Given the description of an element on the screen output the (x, y) to click on. 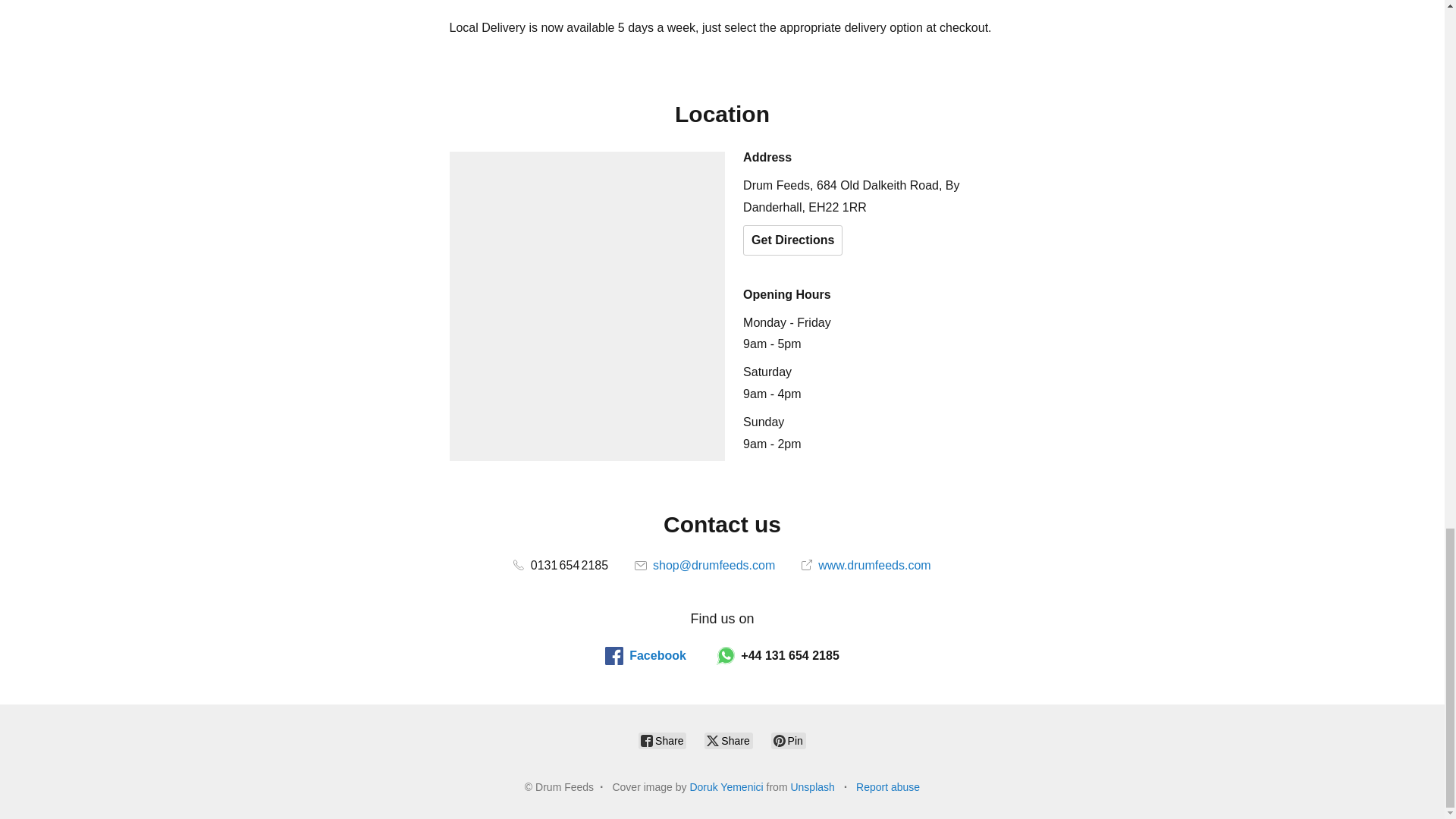
www.drumfeeds.com (866, 564)
Get Directions (792, 240)
Pin (788, 740)
Unsplash (812, 787)
Facebook (645, 656)
Share (728, 740)
Share (662, 740)
Report abuse (888, 787)
Doruk Yemenici (725, 787)
Location on map (586, 306)
